Given the description of an element on the screen output the (x, y) to click on. 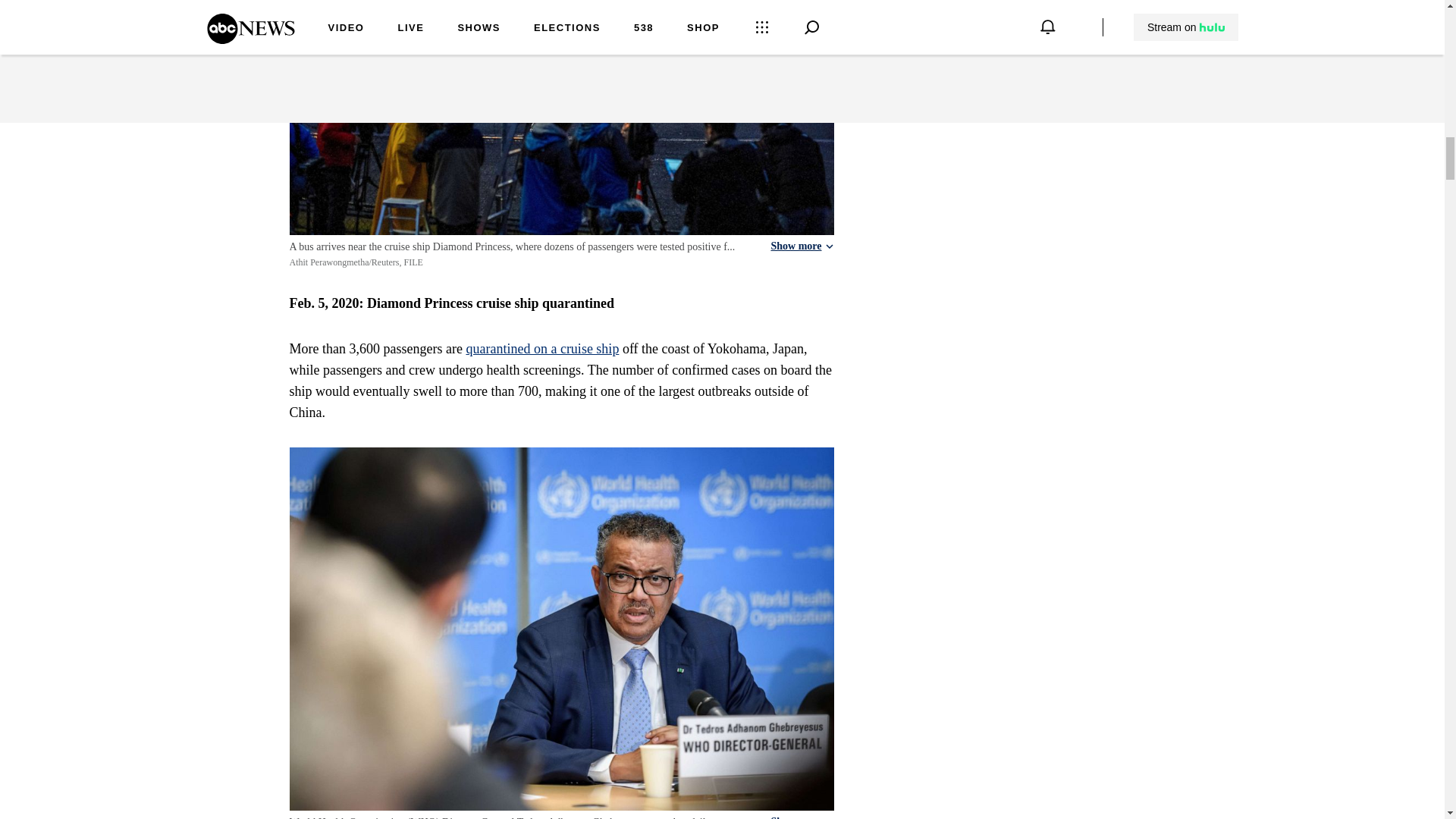
quarantined on a cruise ship (541, 348)
Show more (801, 246)
Show more (801, 817)
